Given the description of an element on the screen output the (x, y) to click on. 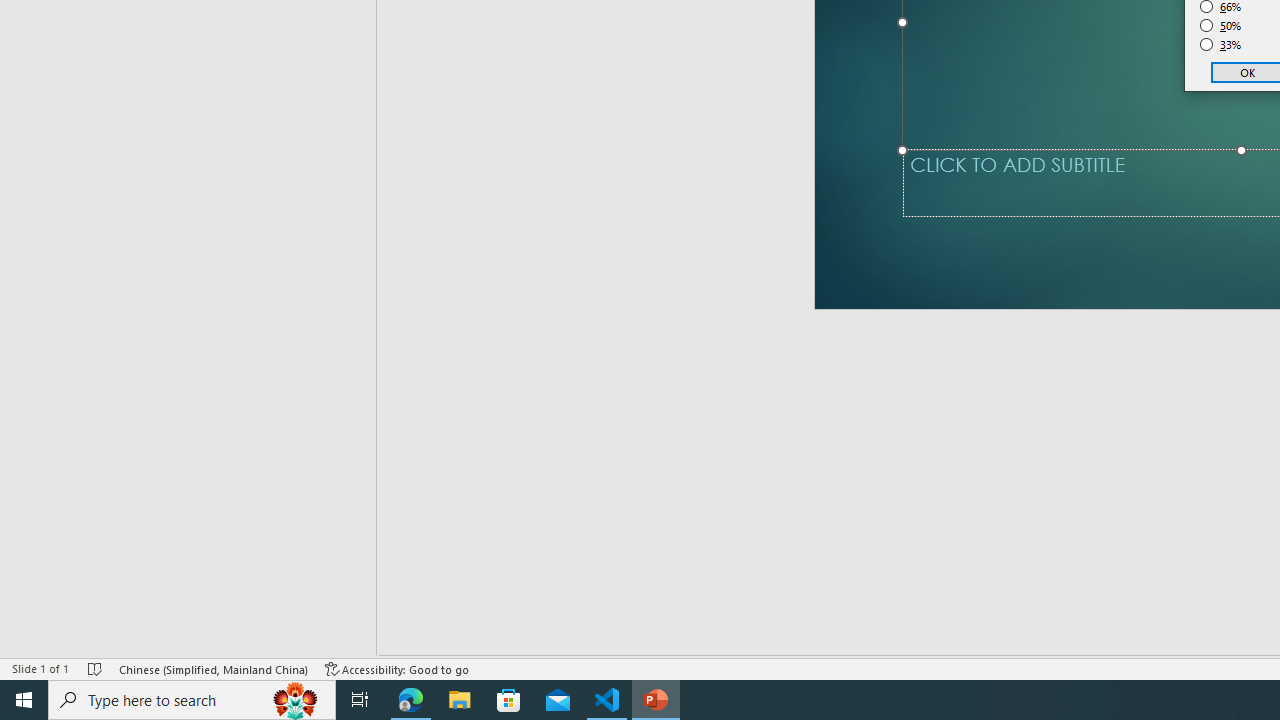
PowerPoint - 1 running window (656, 699)
Visual Studio Code - 1 running window (607, 699)
Type here to search (191, 699)
Start (24, 699)
33% (1221, 44)
Microsoft Store (509, 699)
Microsoft Edge - 1 running window (411, 699)
File Explorer (460, 699)
50% (1221, 25)
Accessibility Checker Accessibility: Good to go (397, 668)
Task View (359, 699)
Search highlights icon opens search home window (295, 699)
